Given the description of an element on the screen output the (x, y) to click on. 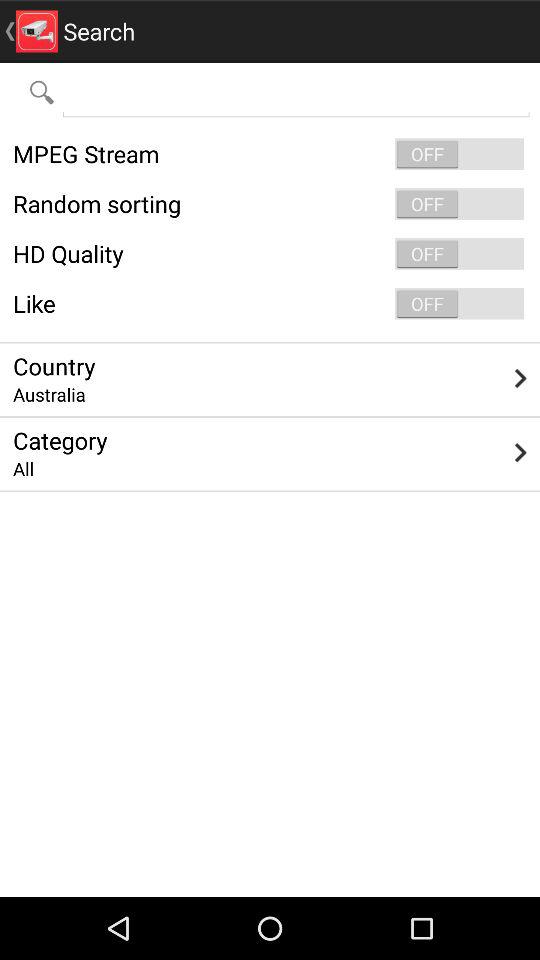
click the app below search icon (295, 91)
